Given the description of an element on the screen output the (x, y) to click on. 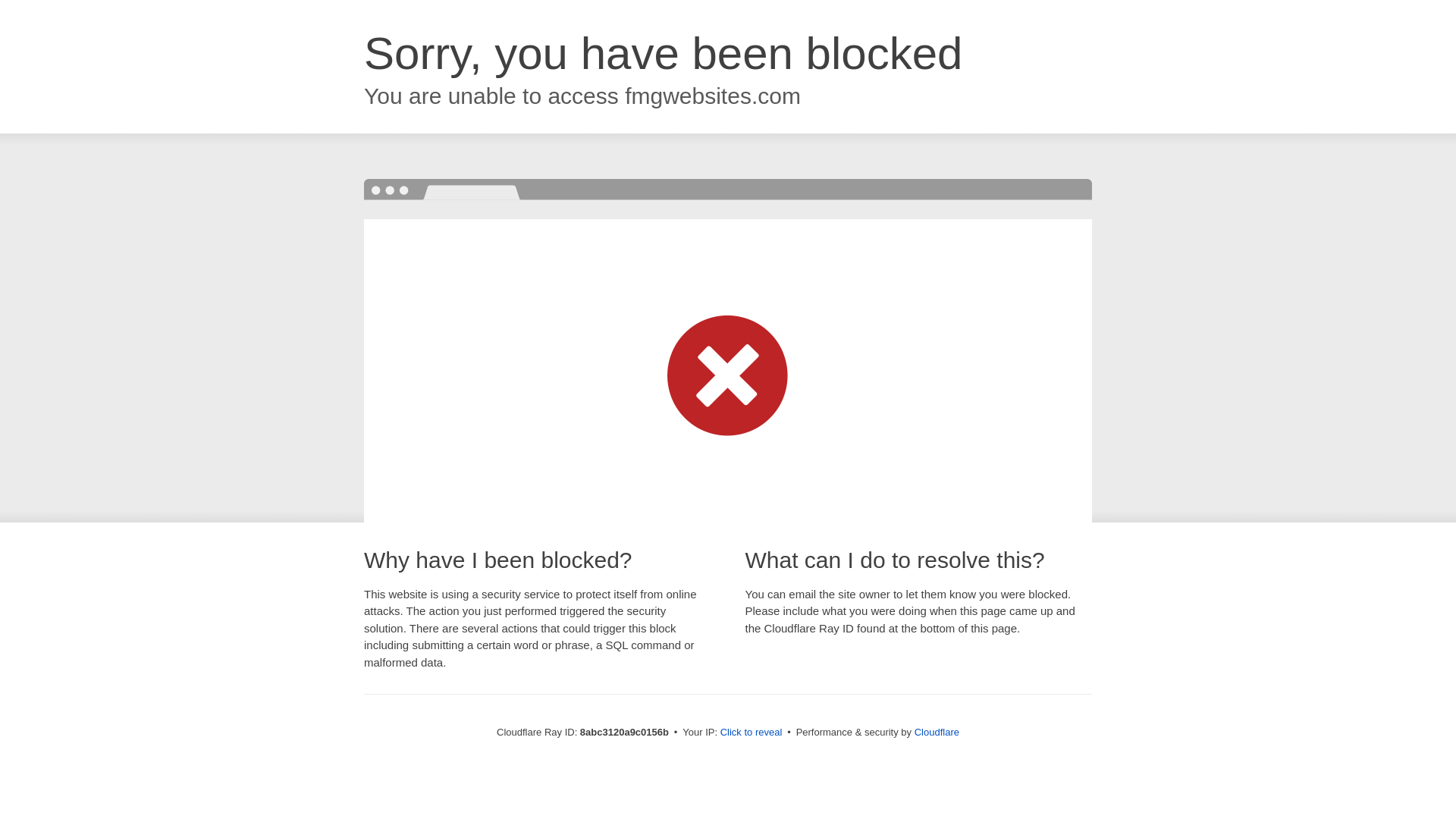
Cloudflare (936, 731)
Click to reveal (751, 732)
